Given the description of an element on the screen output the (x, y) to click on. 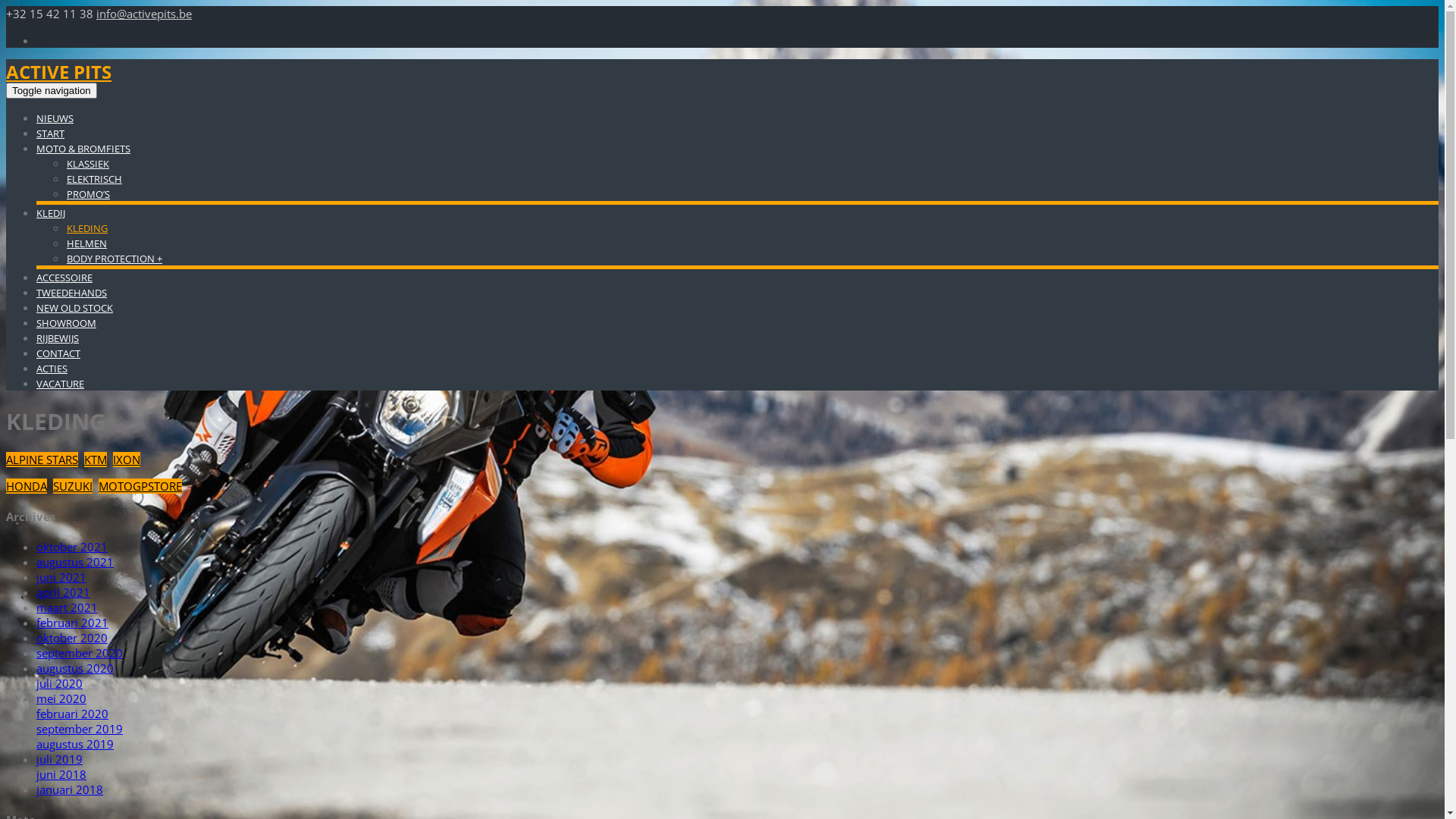
ELEKTRISCH Element type: text (94, 178)
START Element type: text (50, 133)
KTM Element type: text (95, 459)
april 2021 Element type: text (63, 591)
KLEDIJ Element type: text (50, 212)
februari 2021 Element type: text (72, 622)
september 2019 Element type: text (79, 728)
KLEDING Element type: text (86, 228)
augustus 2021 Element type: text (74, 561)
HONDA Element type: text (26, 485)
ALPINE STARS Element type: text (42, 459)
februari 2020 Element type: text (72, 713)
juli 2020 Element type: text (59, 682)
KLASSIEK Element type: text (87, 163)
juni 2021 Element type: text (61, 576)
MOTO & BROMFIETS Element type: text (83, 148)
oktober 2021 Element type: text (71, 546)
TWEEDEHANDS Element type: text (71, 292)
info@activepits.be Element type: text (143, 13)
ACCESSOIRE Element type: text (64, 277)
januari 2018 Element type: text (69, 789)
augustus 2020 Element type: text (74, 667)
SUZUKI Element type: text (72, 485)
NIEUWS Element type: text (54, 118)
NEW OLD STOCK Element type: text (74, 307)
SHOWROOM Element type: text (66, 322)
juli 2019 Element type: text (59, 758)
maart 2021 Element type: text (66, 607)
HELMEN Element type: text (86, 243)
IXON Element type: text (126, 459)
VACATURE Element type: text (60, 383)
juni 2018 Element type: text (61, 773)
september 2020 Element type: text (79, 652)
MOTOGPSTORE Element type: text (140, 485)
BODY PROTECTION + Element type: text (114, 258)
CONTACT Element type: text (58, 353)
Toggle navigation Element type: text (51, 90)
oktober 2020 Element type: text (71, 637)
mei 2020 Element type: text (61, 698)
RIJBEWIJS Element type: text (57, 338)
ACTIES Element type: text (51, 368)
augustus 2019 Element type: text (74, 743)
ACTIVE PITS Element type: text (58, 71)
